Given the description of an element on the screen output the (x, y) to click on. 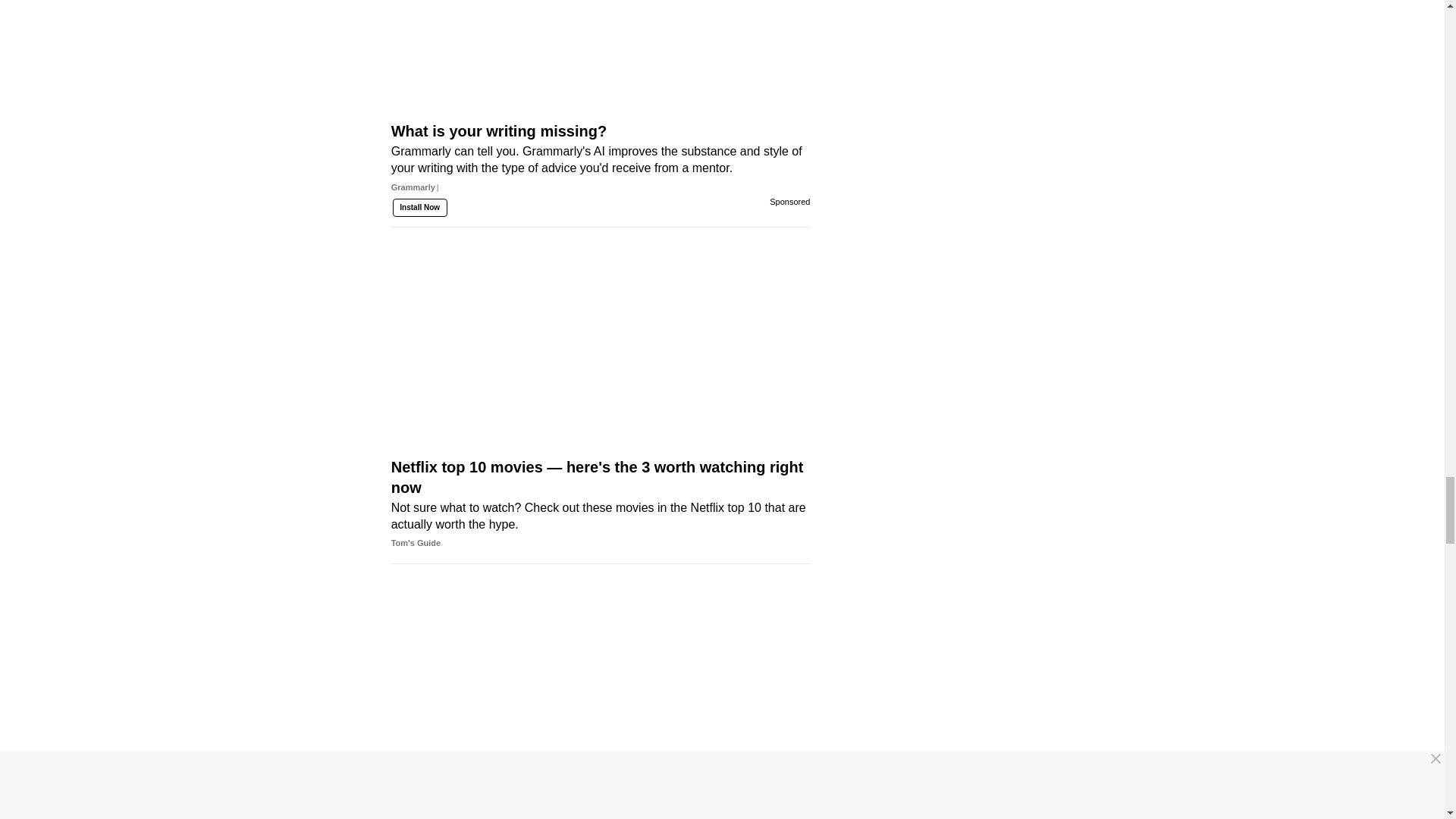
What is your writing missing? (600, 184)
What is your writing missing? (600, 69)
Use an AI Writing Tool That Actually Understands Your Voice (600, 706)
